Given the description of an element on the screen output the (x, y) to click on. 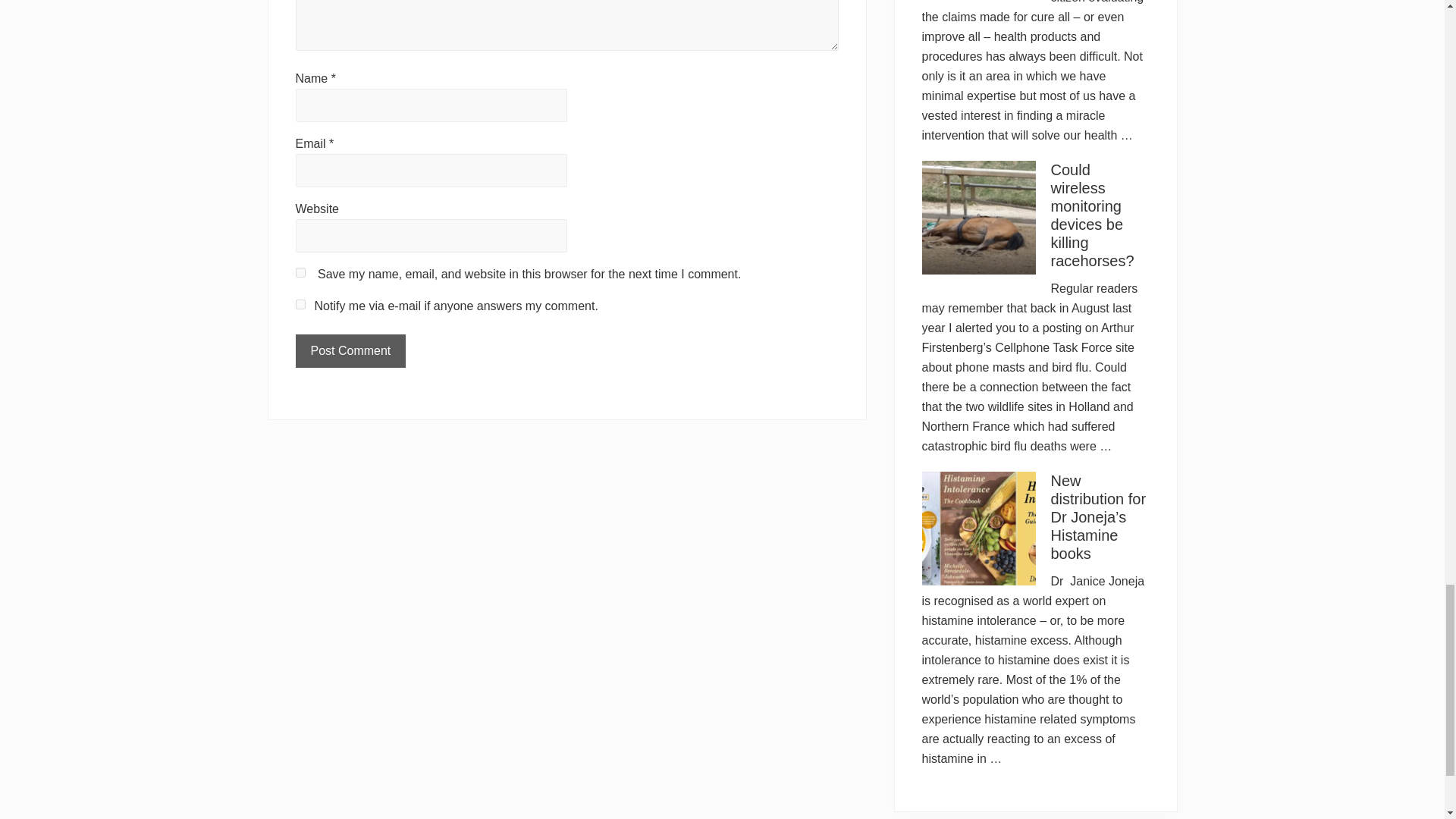
on (300, 304)
yes (300, 272)
Post Comment (350, 350)
